Given the description of an element on the screen output the (x, y) to click on. 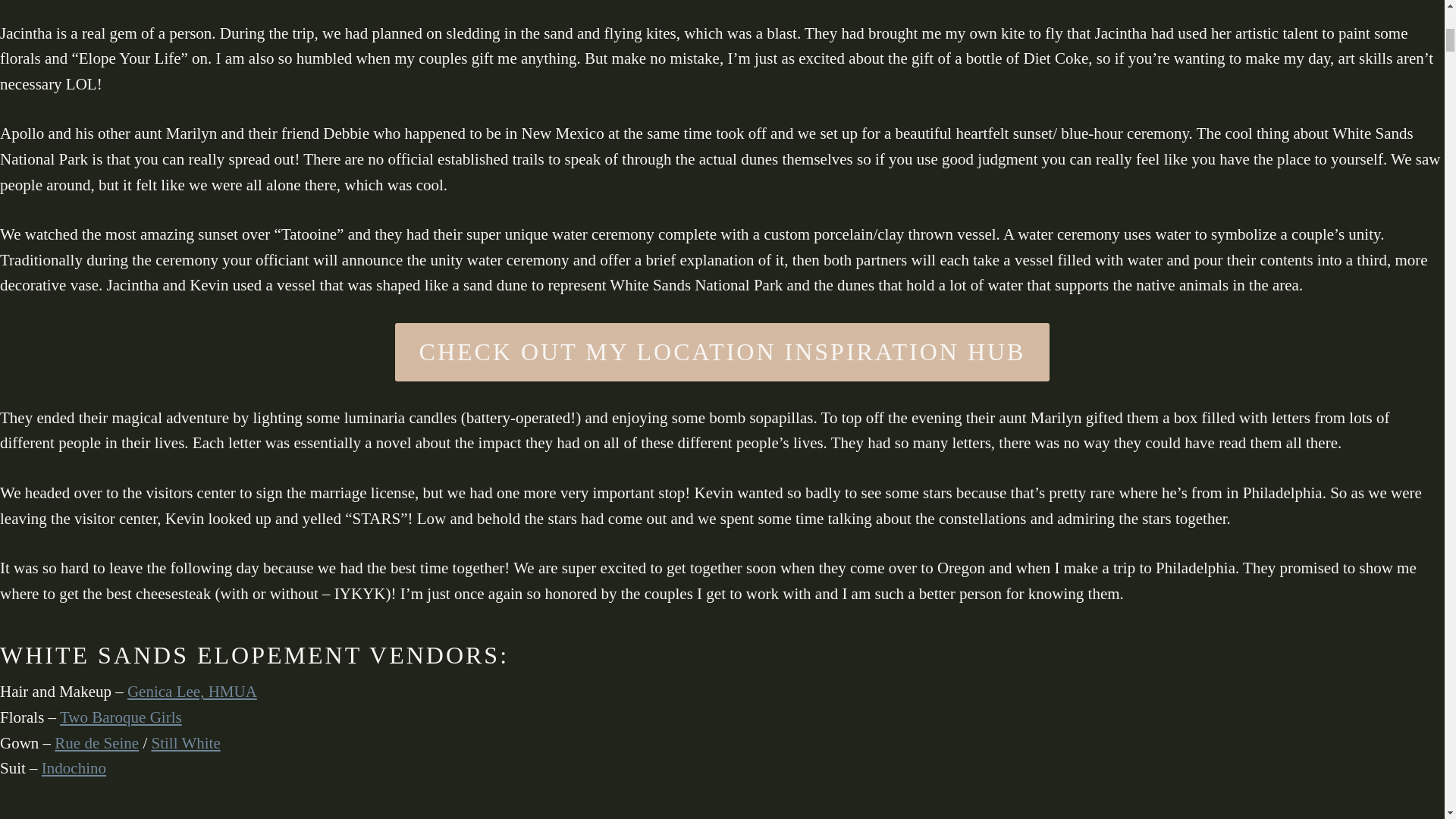
Genica Lee, HMUA (192, 691)
Indochino (74, 768)
Rue de Seine (96, 742)
Two Baroque Girls (120, 717)
Still White (186, 742)
CHECK OUT MY LOCATION INSPIRATION HUB (721, 351)
